Given the description of an element on the screen output the (x, y) to click on. 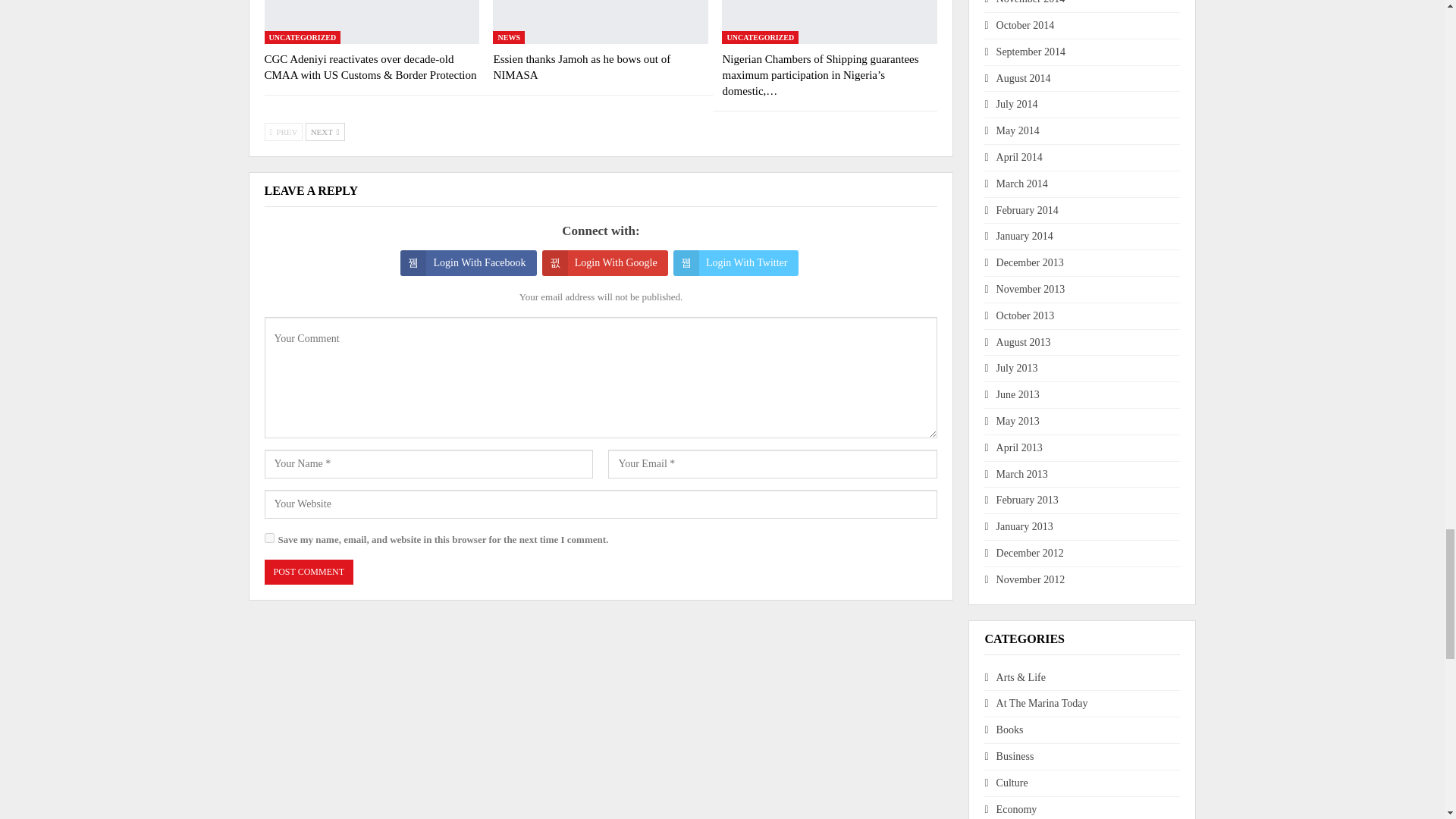
Next (325, 131)
yes (268, 537)
Post Comment (307, 571)
Essien thanks Jamoh as he bows out of NIMASA (600, 22)
Previous (282, 131)
Essien thanks Jamoh as he bows out of NIMASA (581, 67)
